Given the description of an element on the screen output the (x, y) to click on. 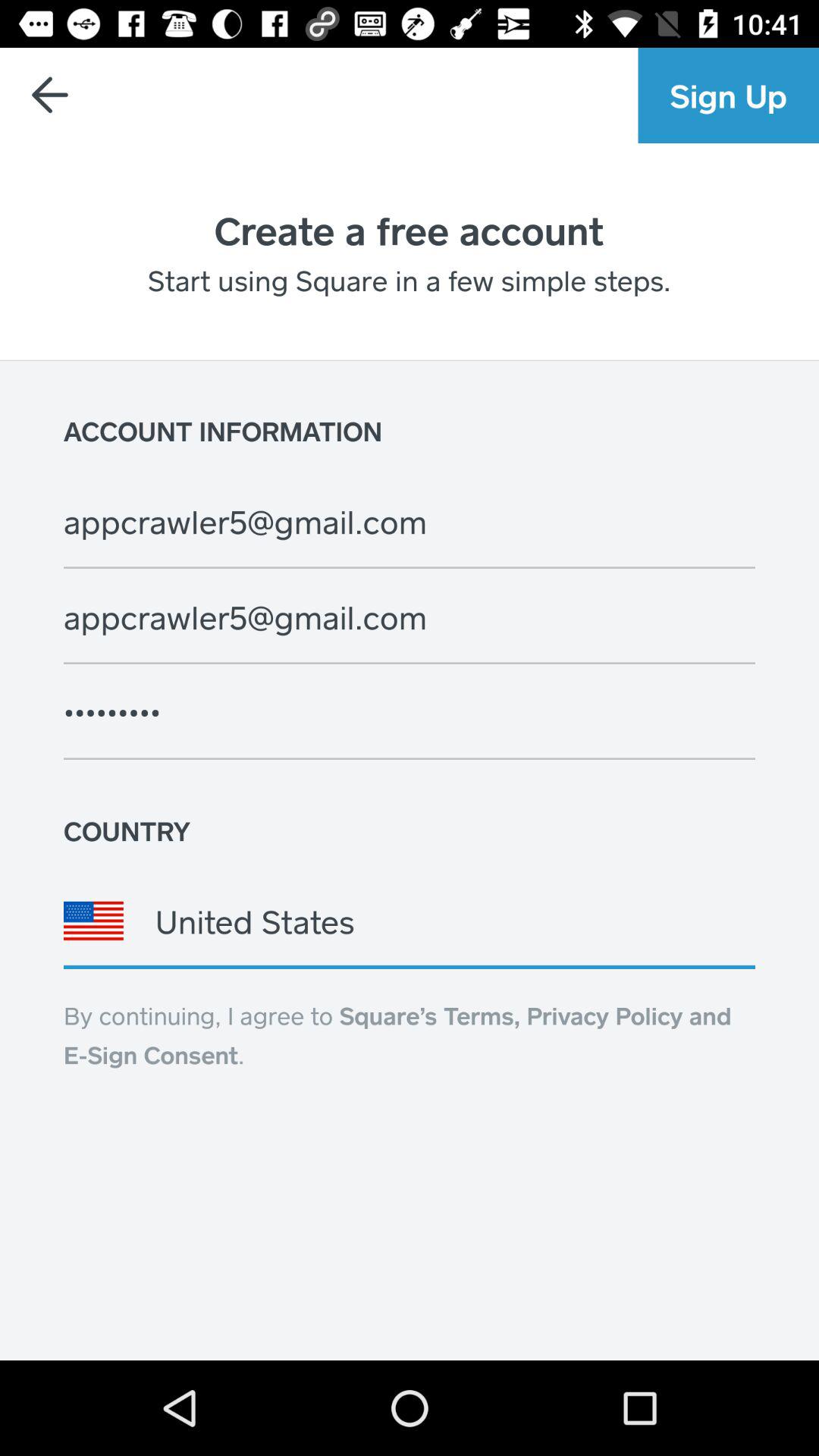
select icon below the united states icon (397, 1035)
